Given the description of an element on the screen output the (x, y) to click on. 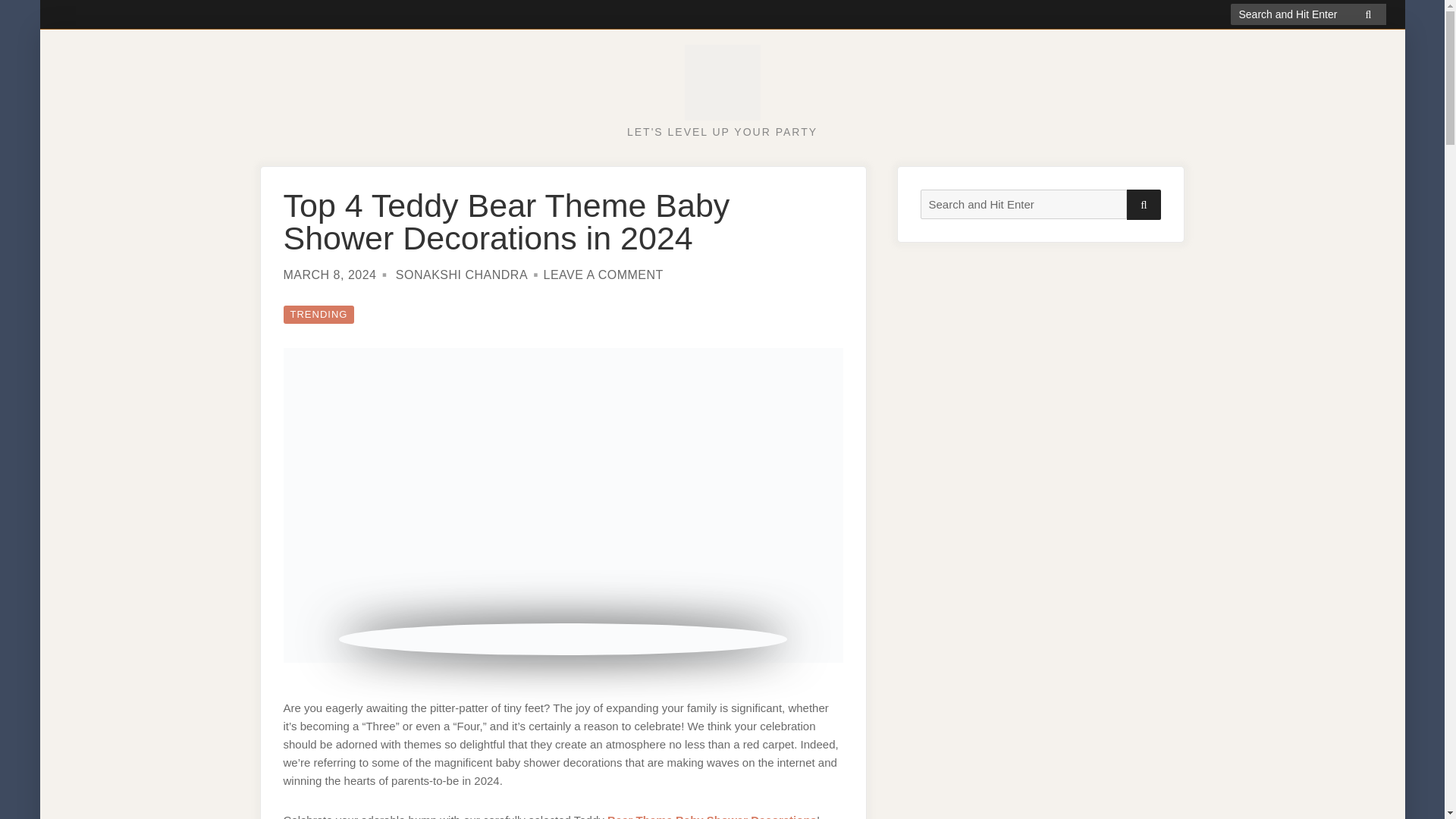
SEARCH (1368, 14)
SEARCH (1143, 204)
TRENDING (319, 314)
MARCH 8, 2024 (330, 274)
Bear Theme Baby Shower Decorations (711, 816)
SONAKSHI CHANDRA (461, 274)
